Given the description of an element on the screen output the (x, y) to click on. 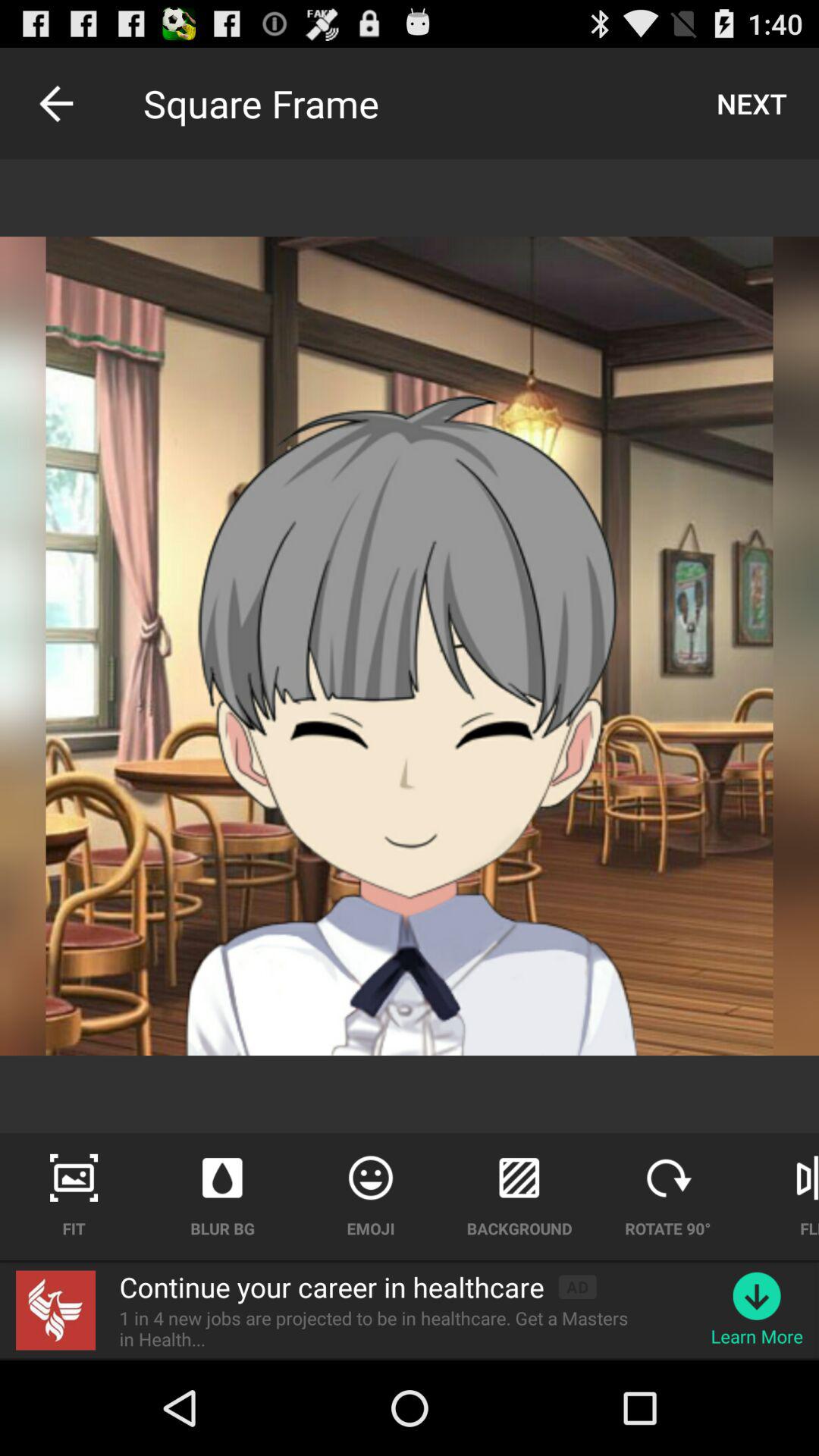
click the item next to the continue your career (577, 1287)
